Given the description of an element on the screen output the (x, y) to click on. 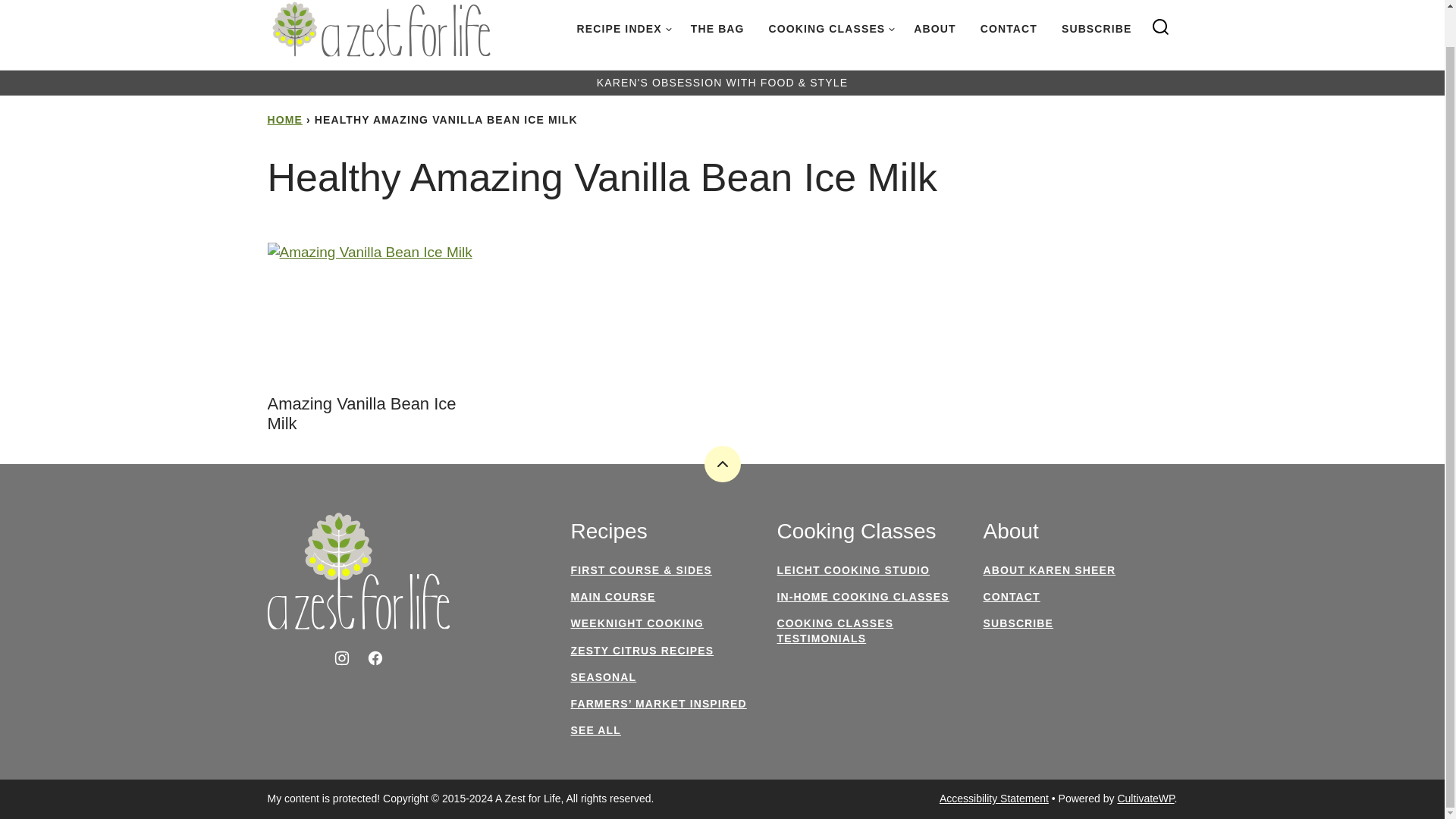
THE BAG (717, 28)
Amazing Vanilla Bean Ice Milk (360, 413)
CONTACT (1008, 28)
COOKING CLASSES (829, 28)
Back to top (721, 463)
SEASONAL (603, 676)
SUBSCRIBE (1096, 28)
RECIPE INDEX (621, 28)
WEEKNIGHT COOKING (636, 623)
A Zest for Life (357, 570)
